Given the description of an element on the screen output the (x, y) to click on. 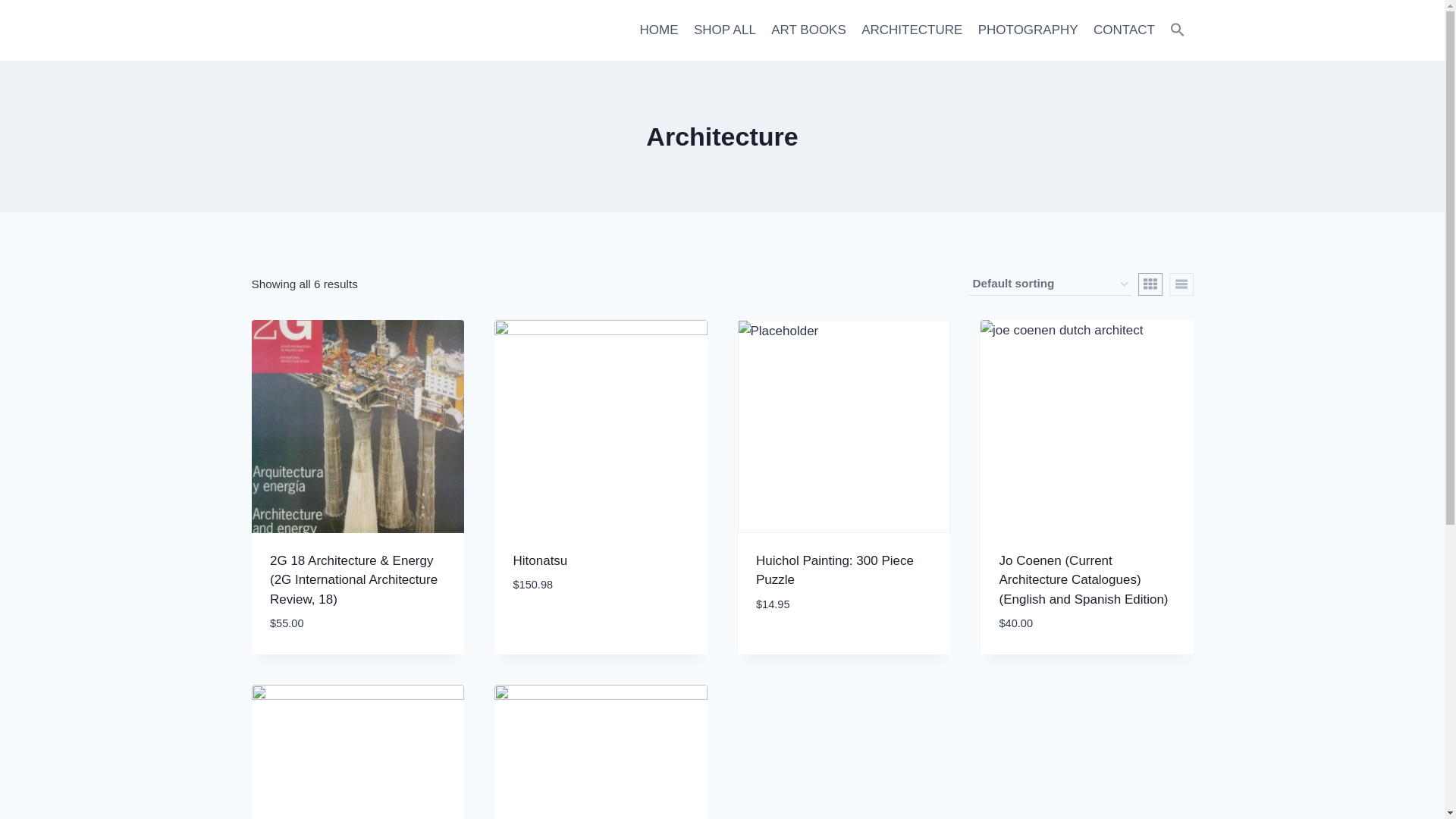
PHOTOGRAPHY (1028, 30)
List View (1181, 283)
ARCHITECTURE (912, 30)
CONTACT (1123, 30)
Huichol Painting: 300 Piece Puzzle (834, 570)
Hitonatsu (539, 560)
Grid View (1149, 283)
SHOP ALL (723, 30)
ART BOOKS (807, 30)
HOME (658, 30)
